Given the description of an element on the screen output the (x, y) to click on. 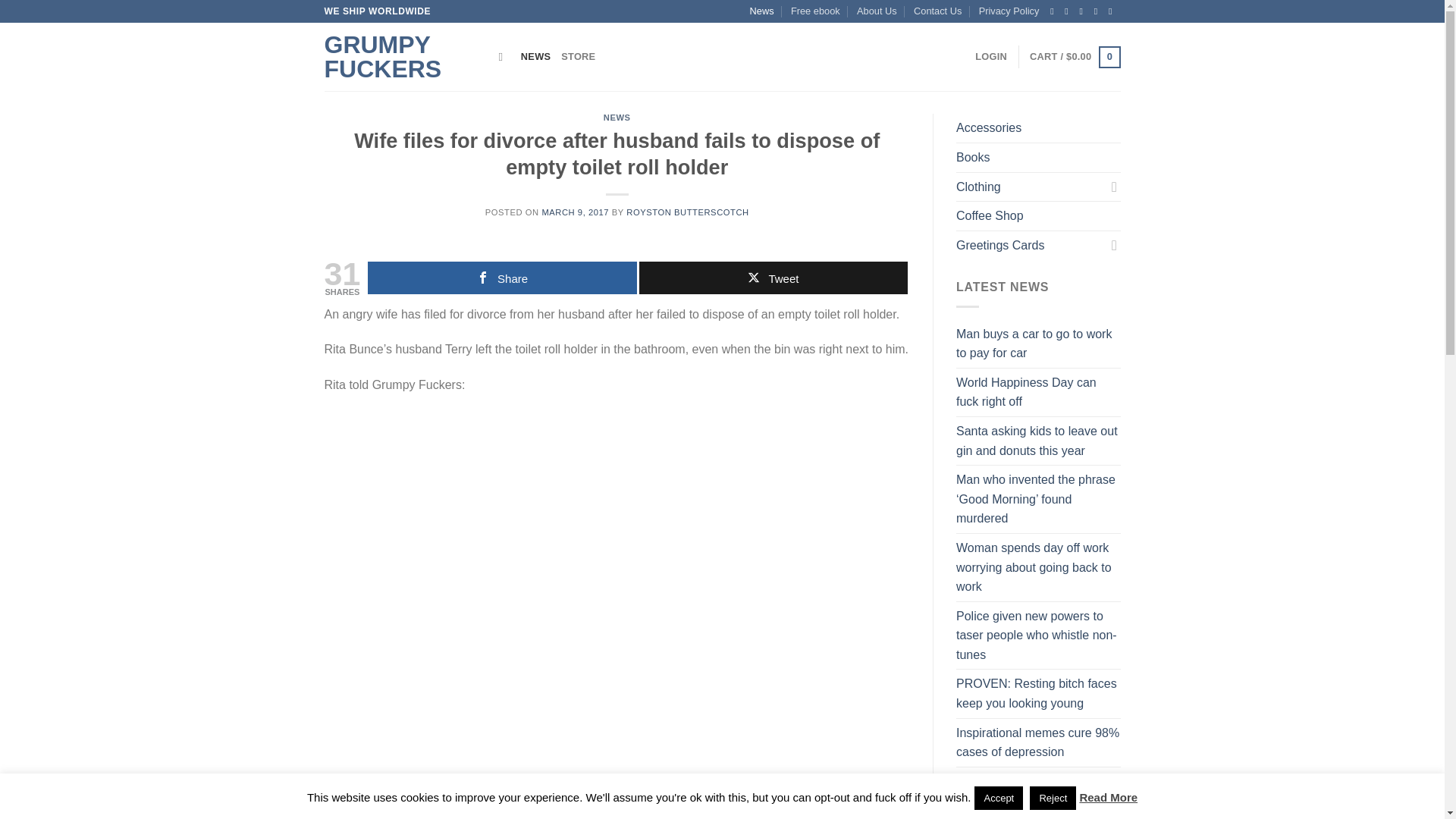
About Us (876, 11)
Tweet (773, 277)
ROYSTON BUTTERSCOTCH (687, 212)
News (761, 11)
Advertisement (617, 739)
GRUMPY FUCKERS (400, 56)
Free ebook (815, 11)
NEWS (617, 117)
MARCH 9, 2017 (574, 212)
STORE (577, 56)
NEWS (535, 56)
Share (502, 277)
Contact Us (937, 11)
Privacy Policy (1008, 11)
Cart (1074, 57)
